Given the description of an element on the screen output the (x, y) to click on. 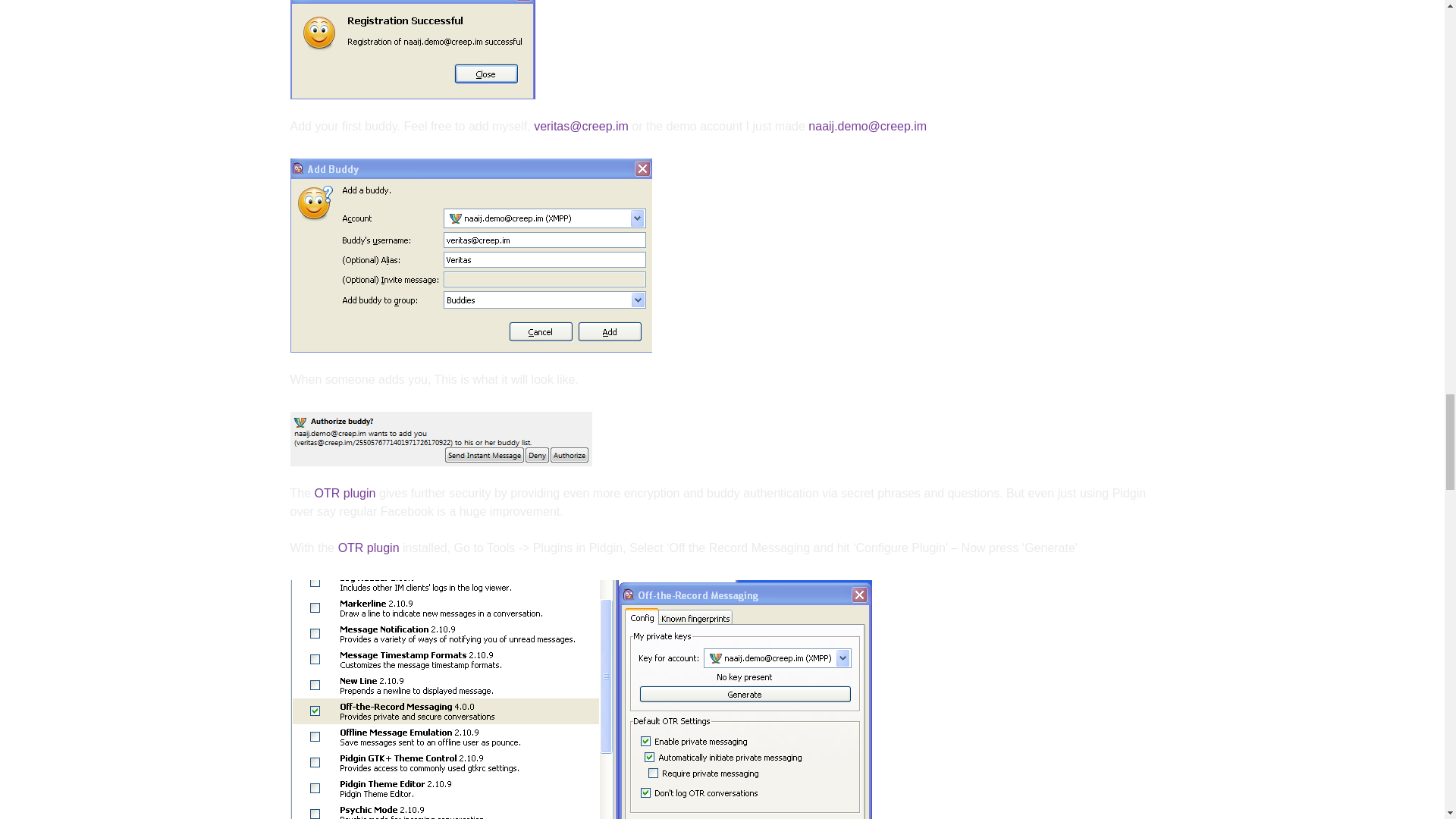
OTR plugin (367, 547)
OTR plugin (344, 492)
